Given the description of an element on the screen output the (x, y) to click on. 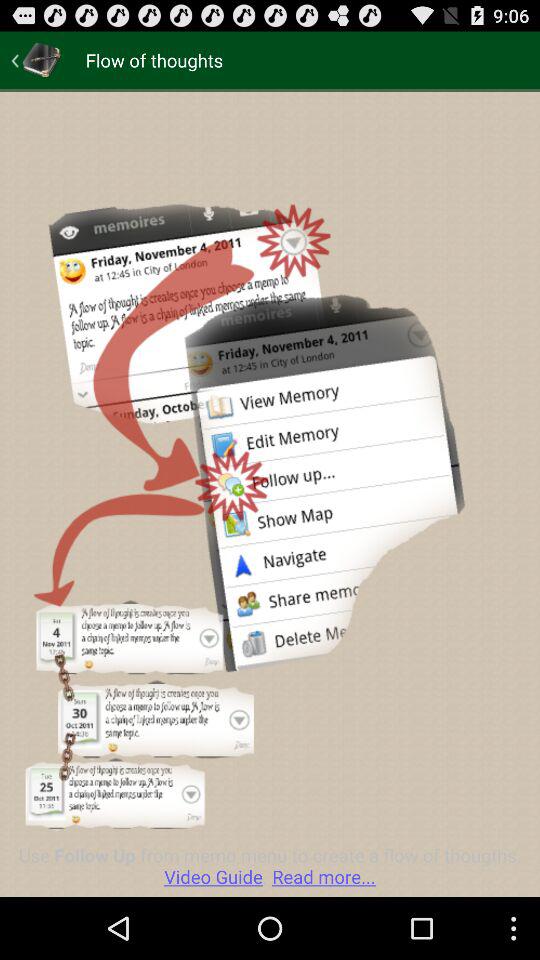
choose the item to the left of flow of thoughts (36, 60)
